Given the description of an element on the screen output the (x, y) to click on. 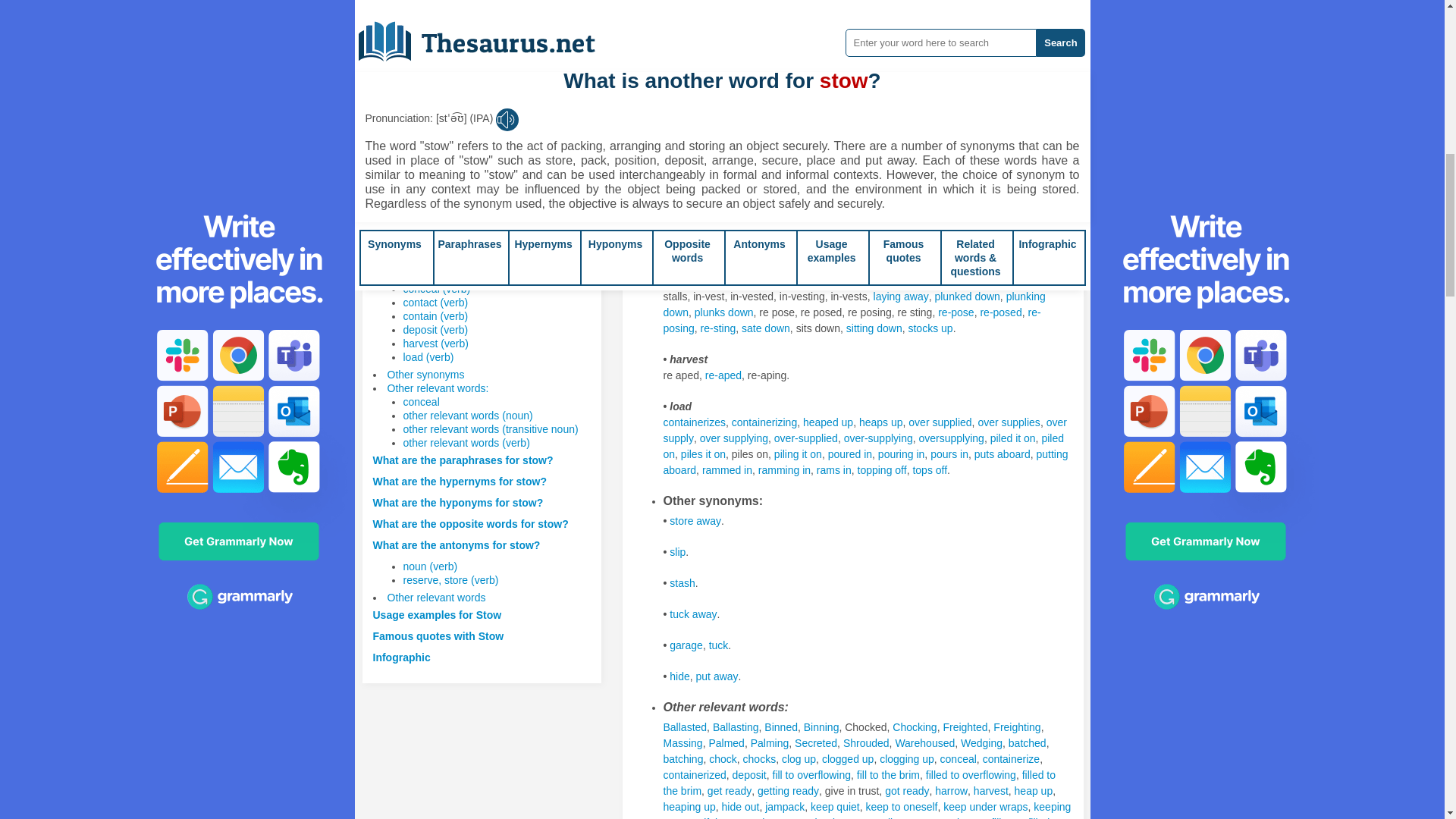
conceal (421, 401)
Synonyms for Stow (898, 91)
Synonyms for Stow (735, 43)
Synonyms for Stow (694, 60)
Other relevant words: (437, 387)
Synonyms for Stow (950, 28)
What are the antonyms for stow? (456, 544)
Synonyms for Stow (830, 28)
Synonyms for Stow (1037, 28)
Famous quotes with Stow (437, 635)
Other synonyms (425, 374)
Synonyms for Stow (893, 43)
Synonyms for Stow (839, 43)
Synonyms for Stow (962, 91)
Other relevant words (435, 597)
